Given the description of an element on the screen output the (x, y) to click on. 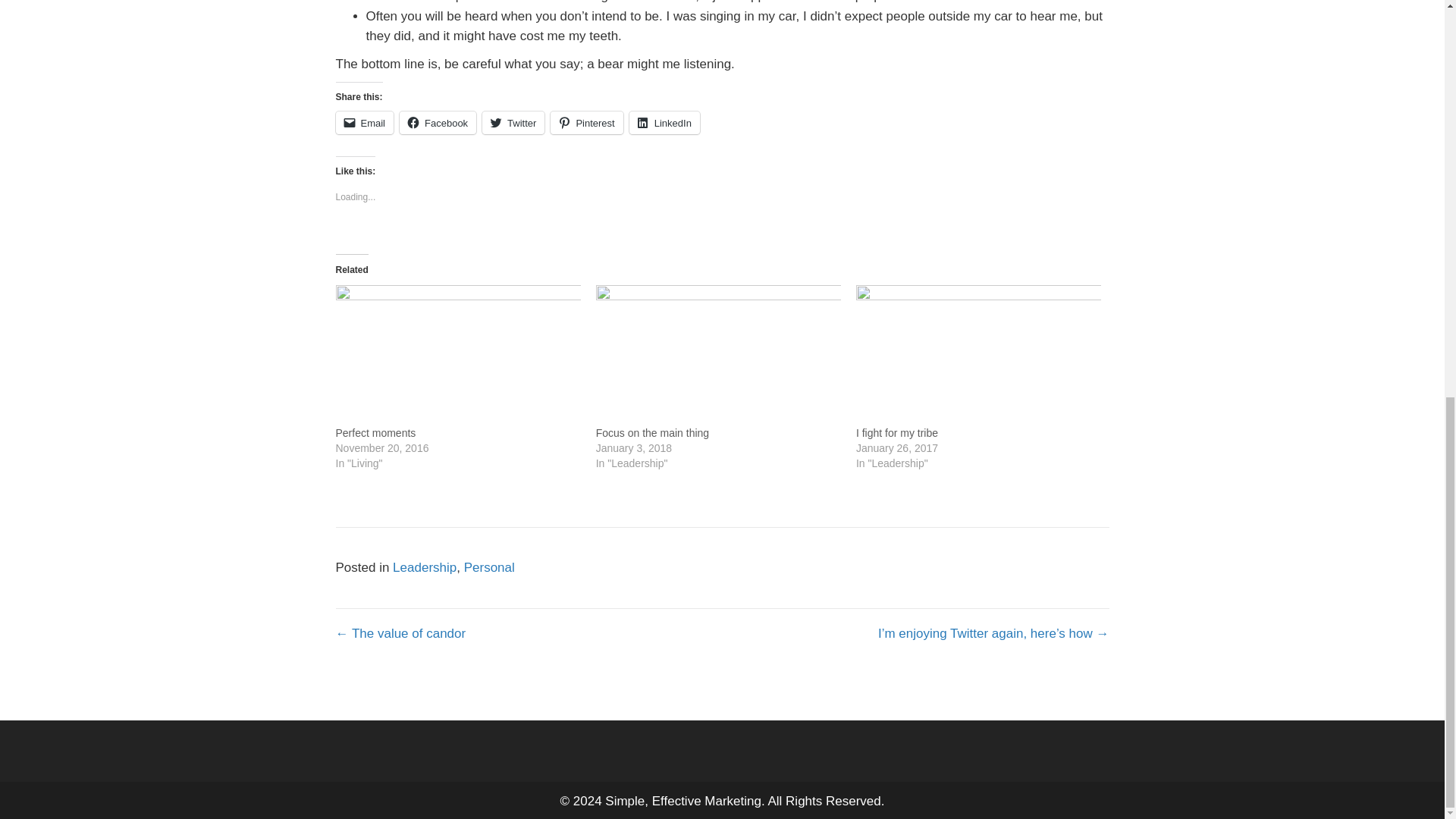
Perfect moments (374, 432)
Perfect moments (456, 355)
I fight for my tribe (978, 355)
Focus on the main thing (652, 432)
Click to email a link to a friend (363, 122)
I fight for my tribe (896, 432)
I fight for my tribe (896, 432)
Email (363, 122)
Click to share on Pinterest (586, 122)
Click to share on Facebook (437, 122)
